Given the description of an element on the screen output the (x, y) to click on. 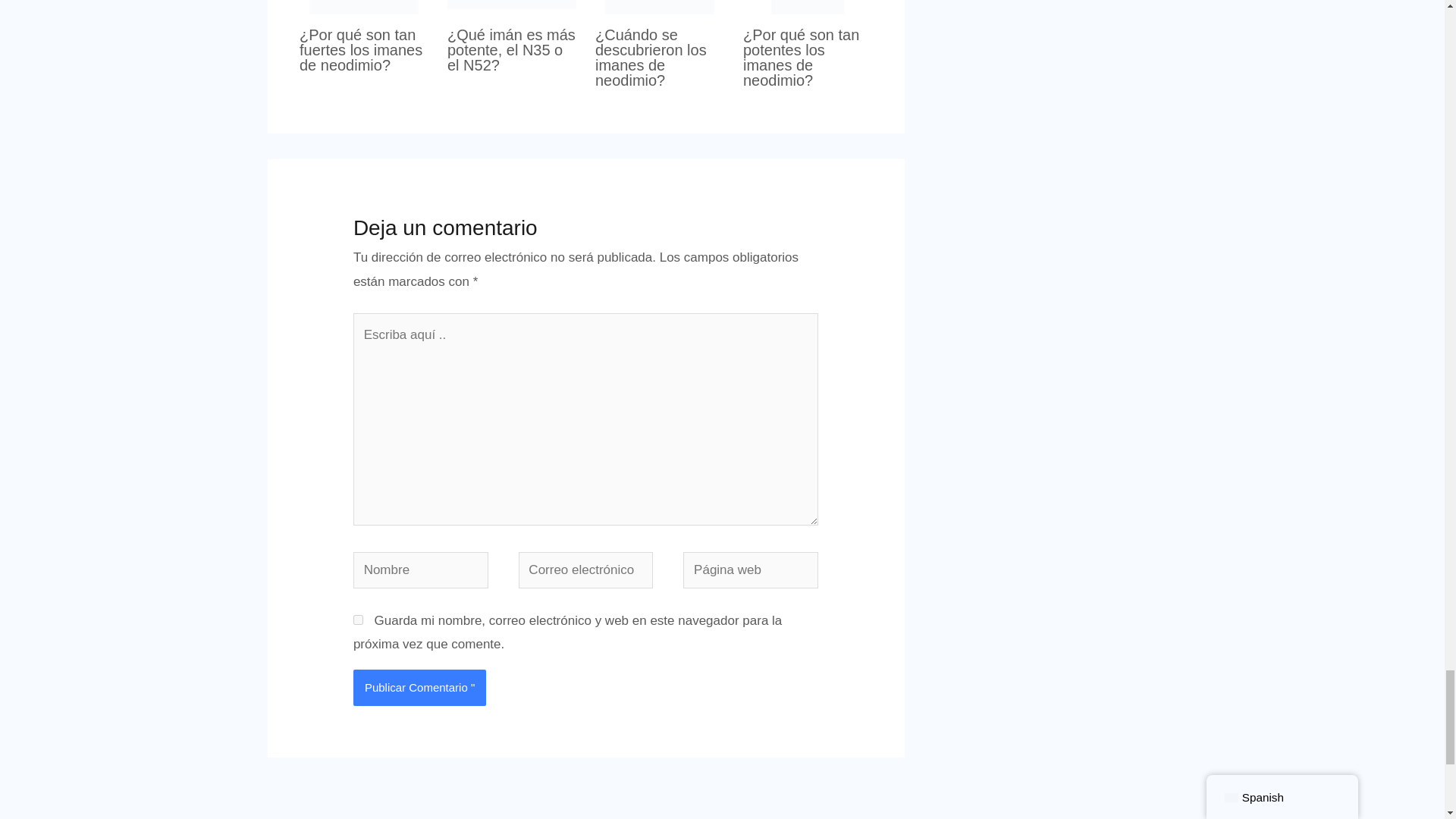
Publicar comentario " (419, 687)
yes (357, 619)
